Given the description of an element on the screen output the (x, y) to click on. 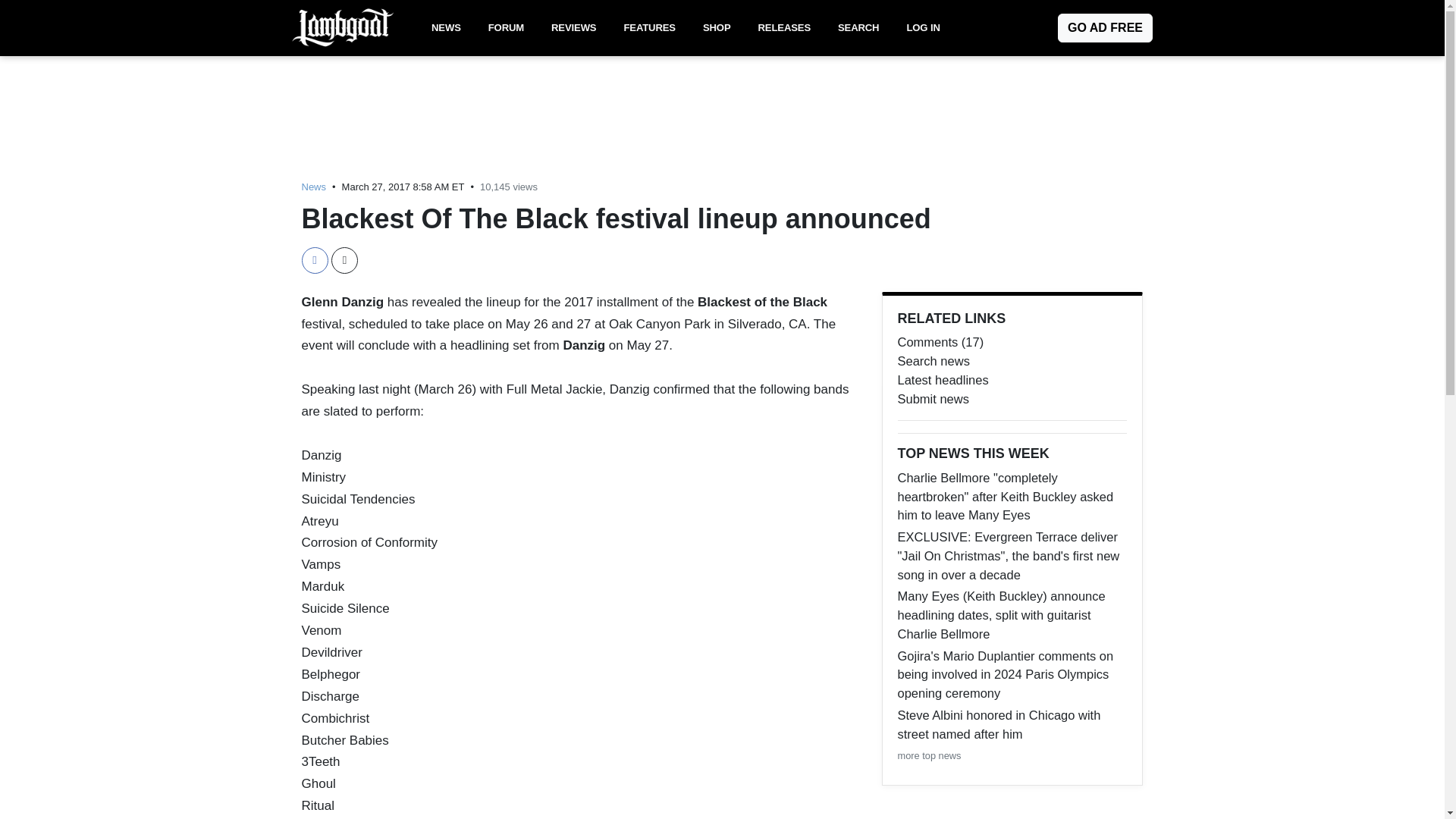
Search news (1012, 361)
News (313, 186)
FEATURES (649, 27)
NEWS (446, 27)
FORUM (505, 27)
GO AD FREE (1105, 27)
SEARCH (858, 27)
SHOP (716, 27)
RELEASES (784, 27)
REVIEWS (573, 27)
Submit news (1012, 398)
LOG IN (921, 27)
